Given the description of an element on the screen output the (x, y) to click on. 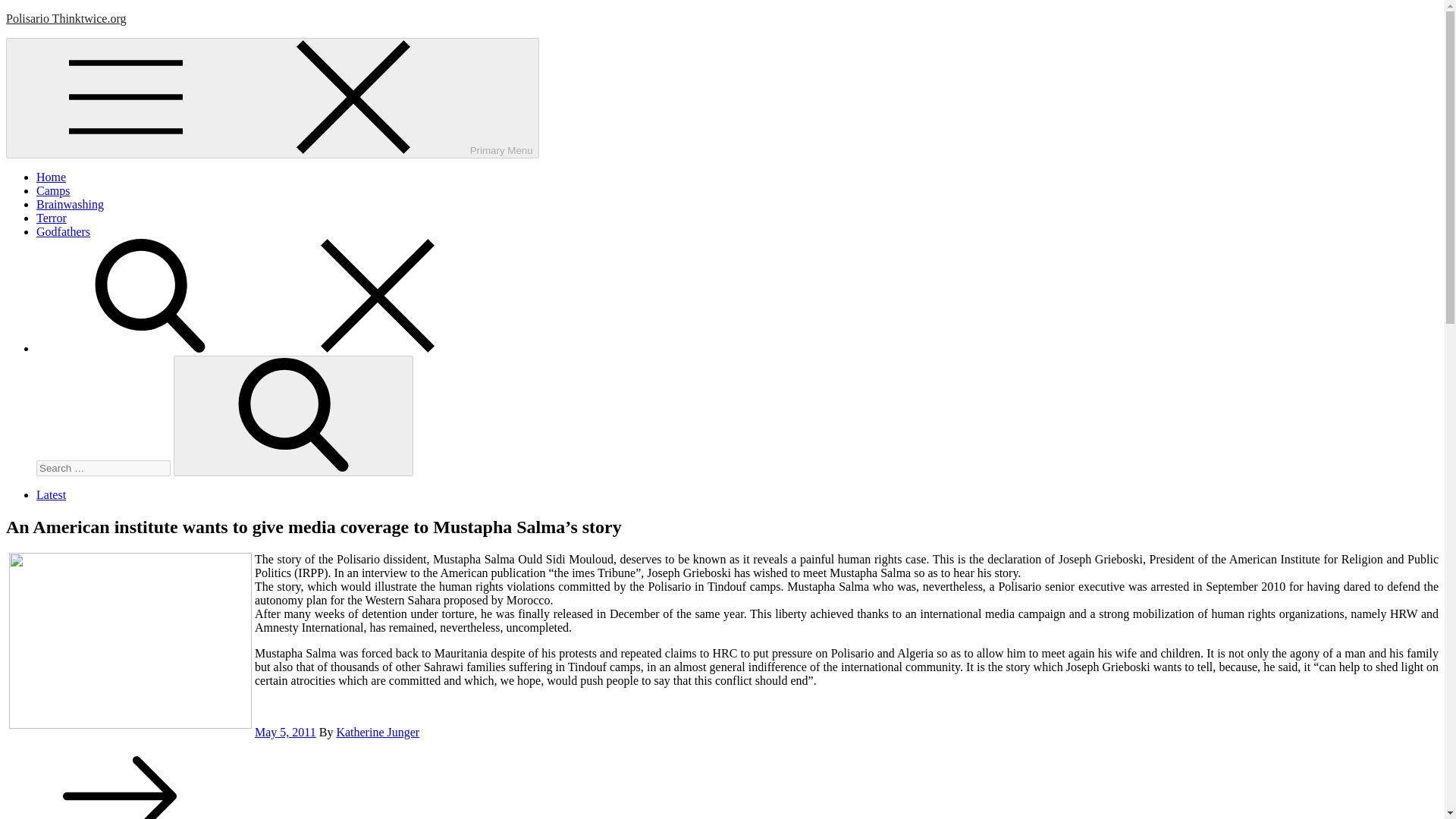
Search (293, 415)
Polisario Thinktwice.org (65, 18)
search (264, 348)
Godfathers (63, 231)
Latest (50, 494)
Primary Menu (271, 97)
Camps (52, 190)
Terror (51, 217)
Brainwashing (69, 204)
May 5, 2011 (284, 731)
Home (50, 176)
Katherine Junger (377, 731)
